Given the description of an element on the screen output the (x, y) to click on. 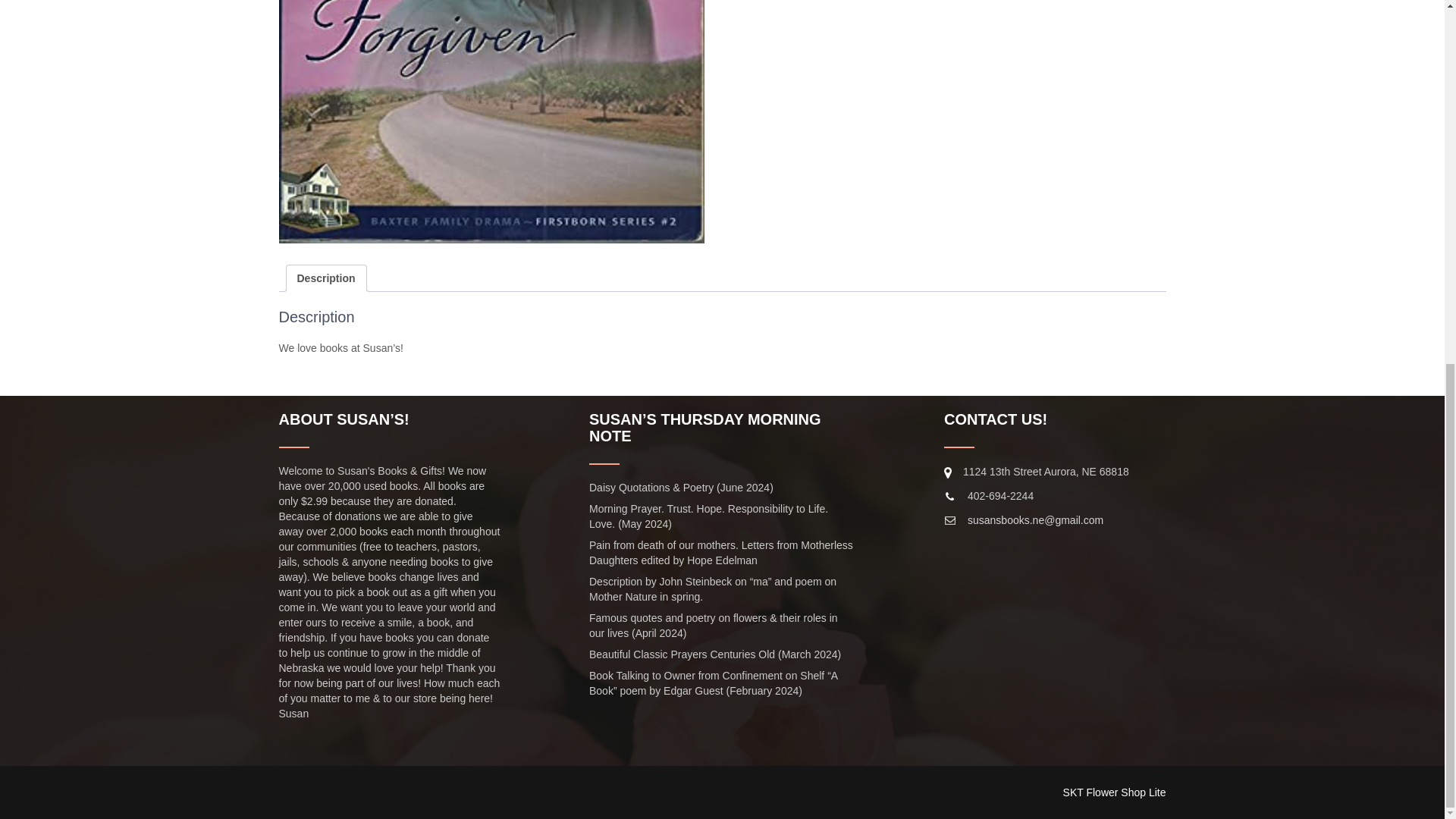
Description (326, 278)
41PDId3oIAL.jpg (491, 121)
